Given the description of an element on the screen output the (x, y) to click on. 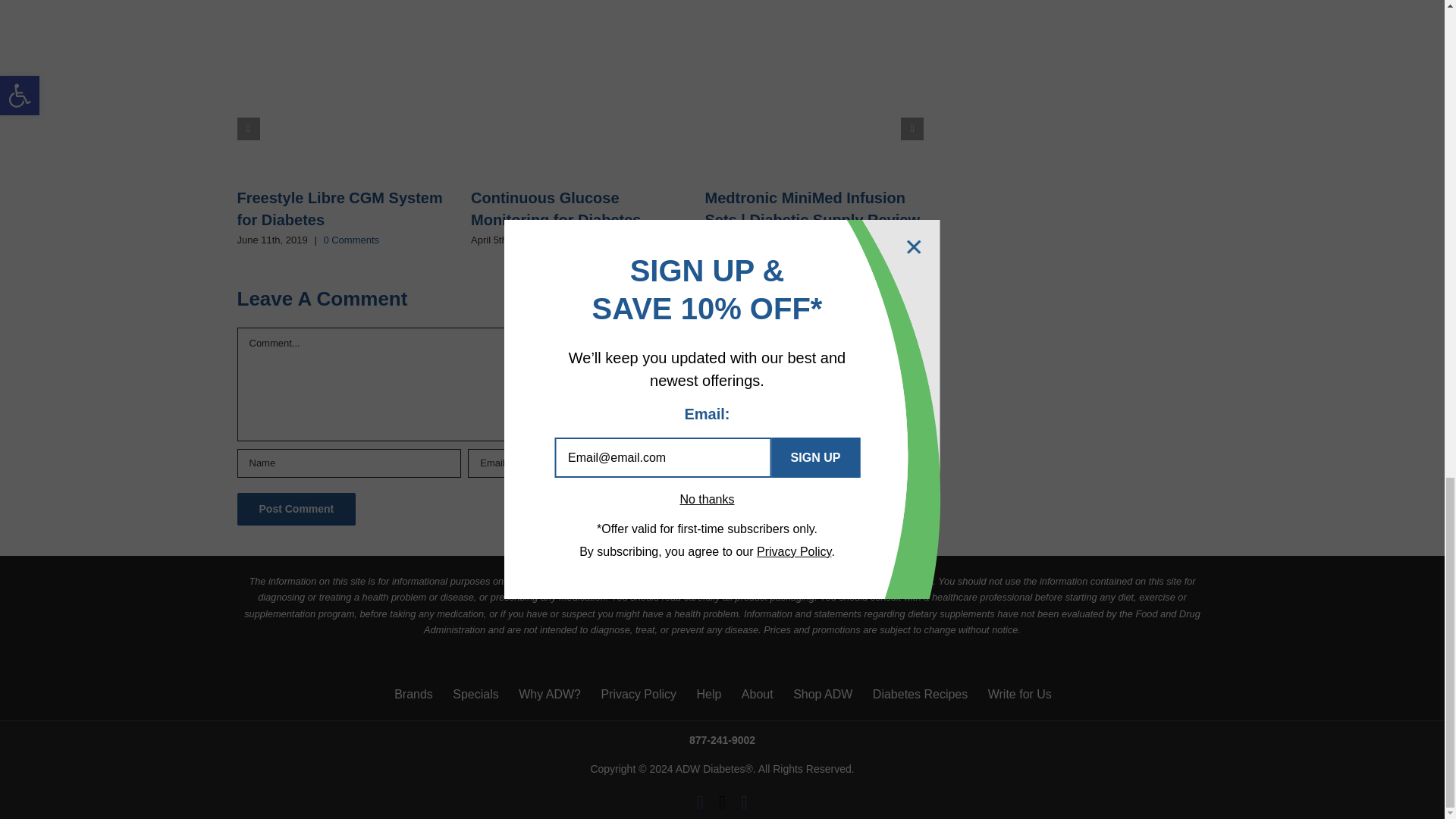
Freestyle Libre CGM System for Diabetes (338, 208)
Continuous Glucose Monitoring for Diabetes (555, 208)
Post Comment (295, 509)
